Given the description of an element on the screen output the (x, y) to click on. 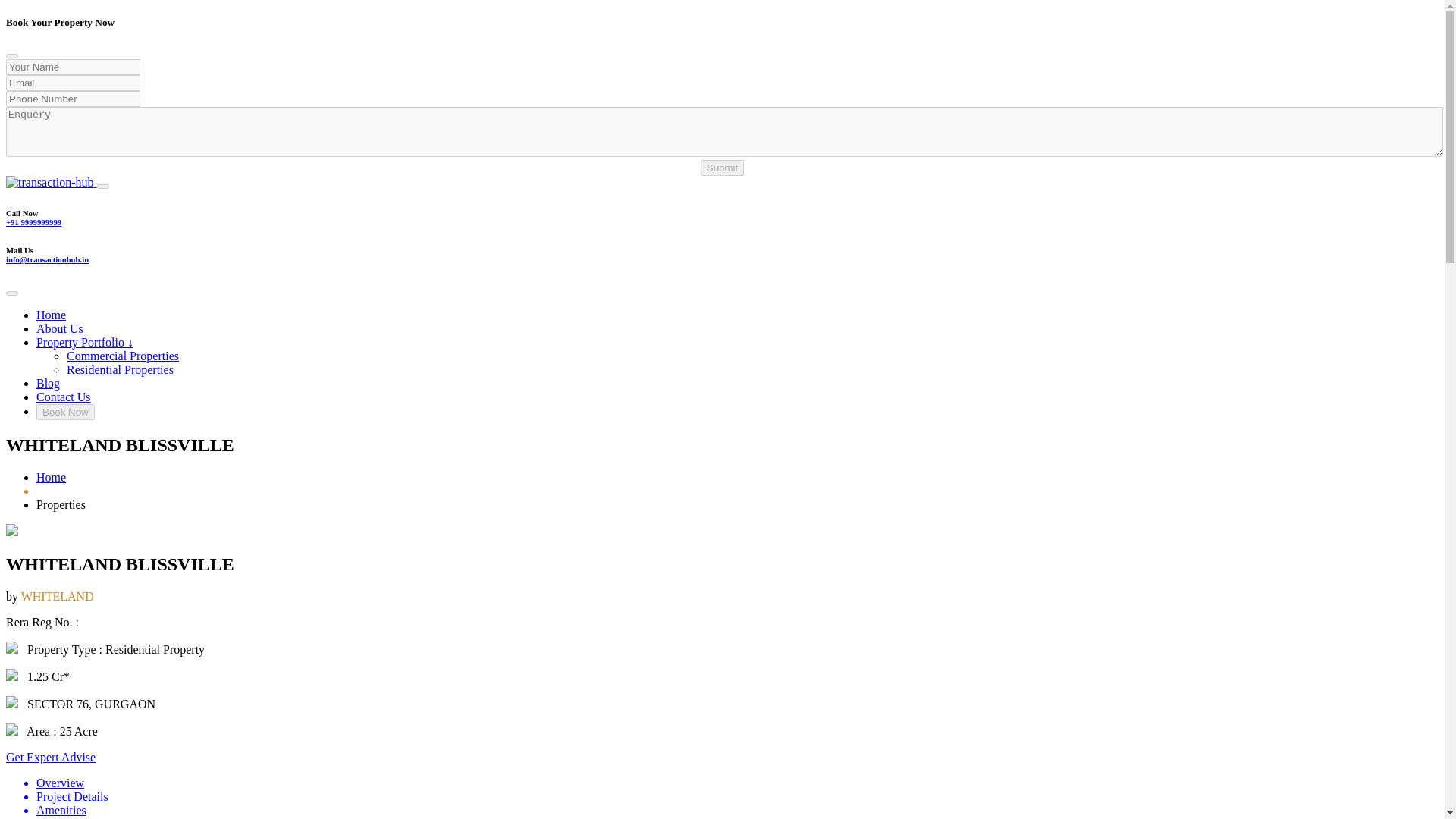
Home (50, 314)
Home (50, 477)
About Us (59, 328)
Submit (722, 167)
Contact Us (63, 396)
Get Expert Advise (50, 757)
Blog (47, 382)
Commercial Properties (122, 355)
Book Now (65, 412)
Book Now (65, 410)
Residential Properties (119, 369)
